Given the description of an element on the screen output the (x, y) to click on. 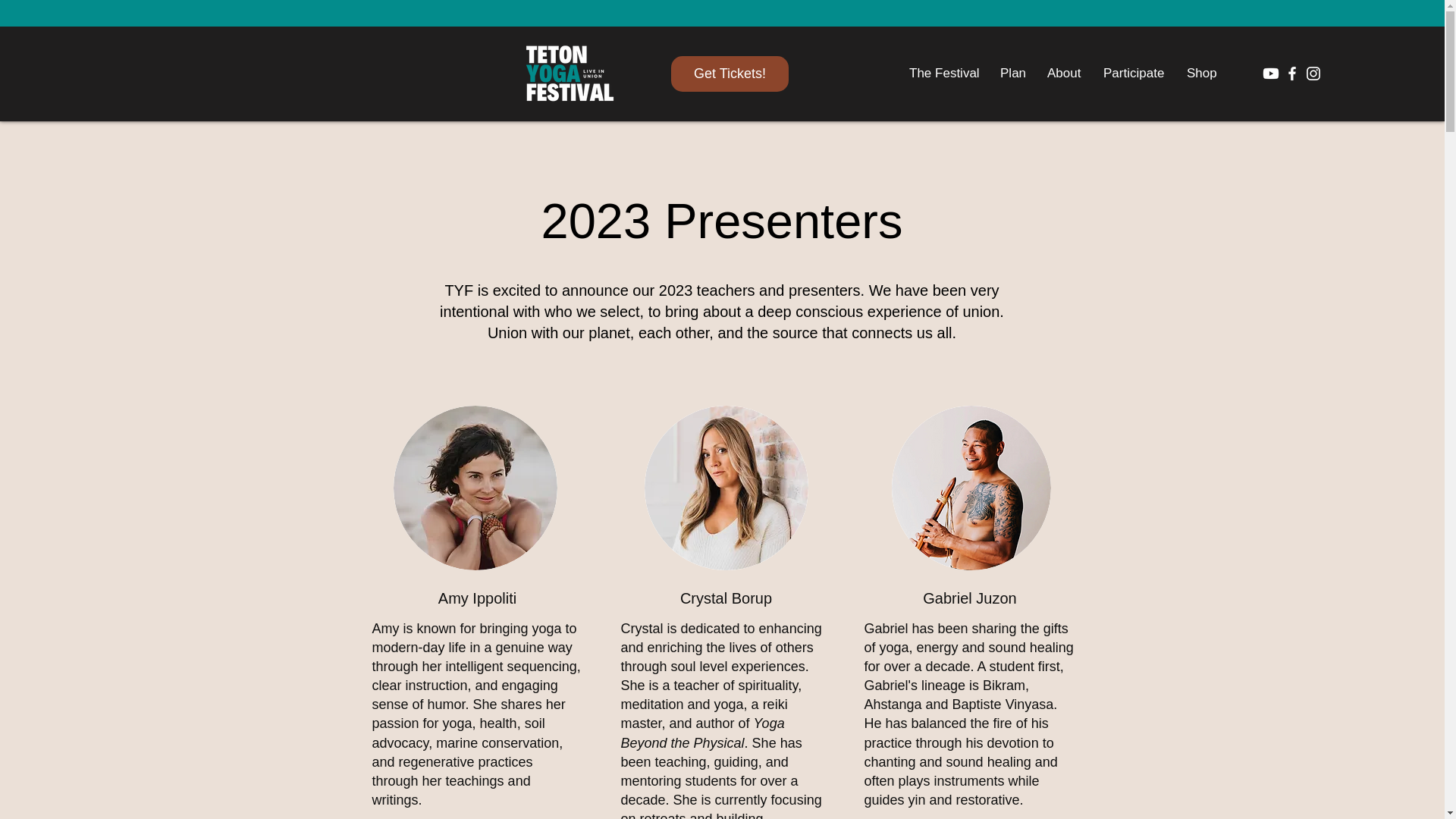
Get Tickets! (730, 73)
Gabriel Juzon (971, 486)
Crystal Borup (726, 486)
Amy Ippoliti (474, 486)
Shop (1200, 73)
